Given the description of an element on the screen output the (x, y) to click on. 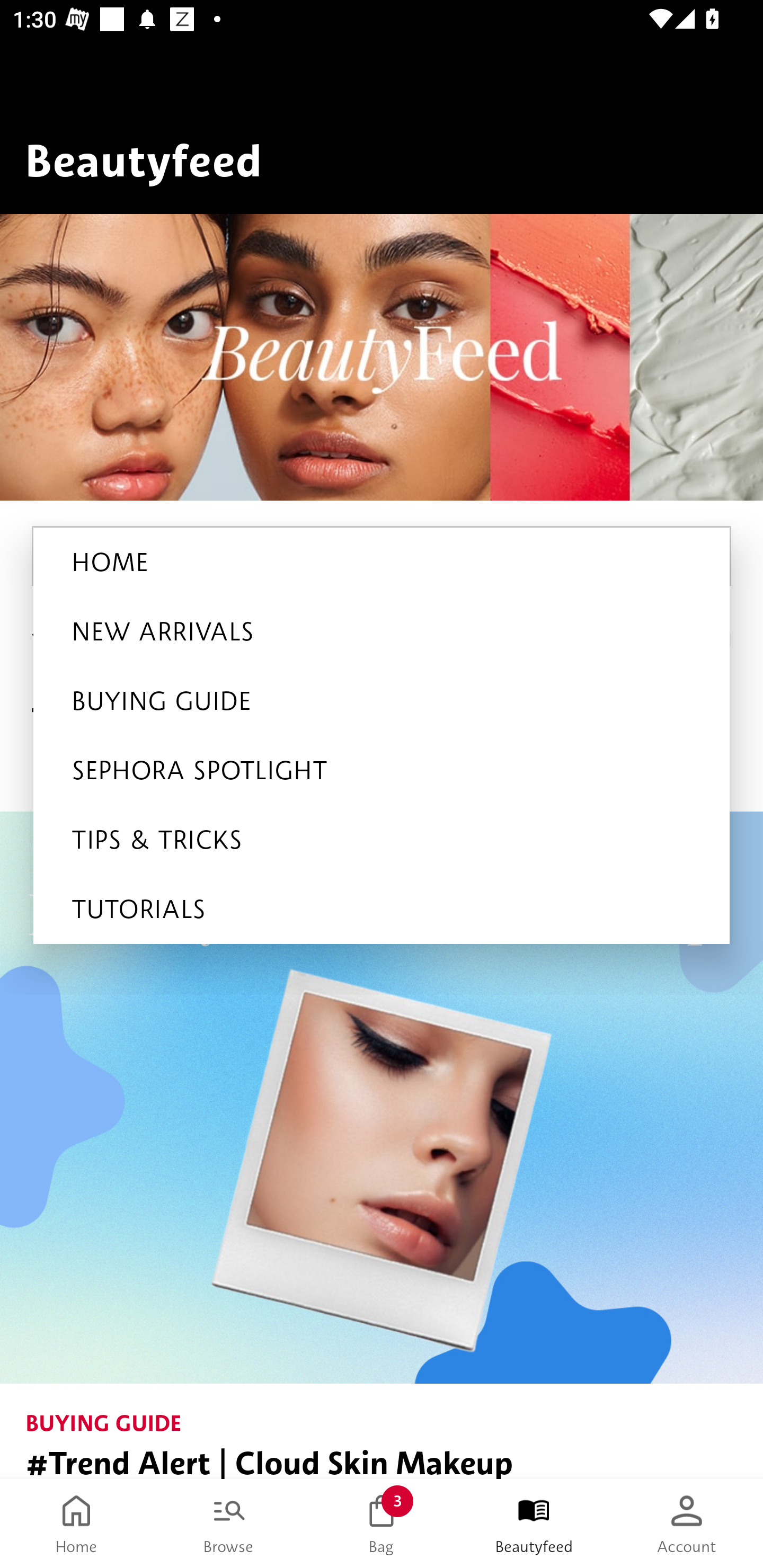
HOME (381, 561)
NEW ARRIVALS (381, 631)
BUYING GUIDE (381, 700)
SEPHORA SPOTLIGHT (381, 770)
TIPS & TRICKS (381, 839)
TUTORIALS (381, 908)
